Given the description of an element on the screen output the (x, y) to click on. 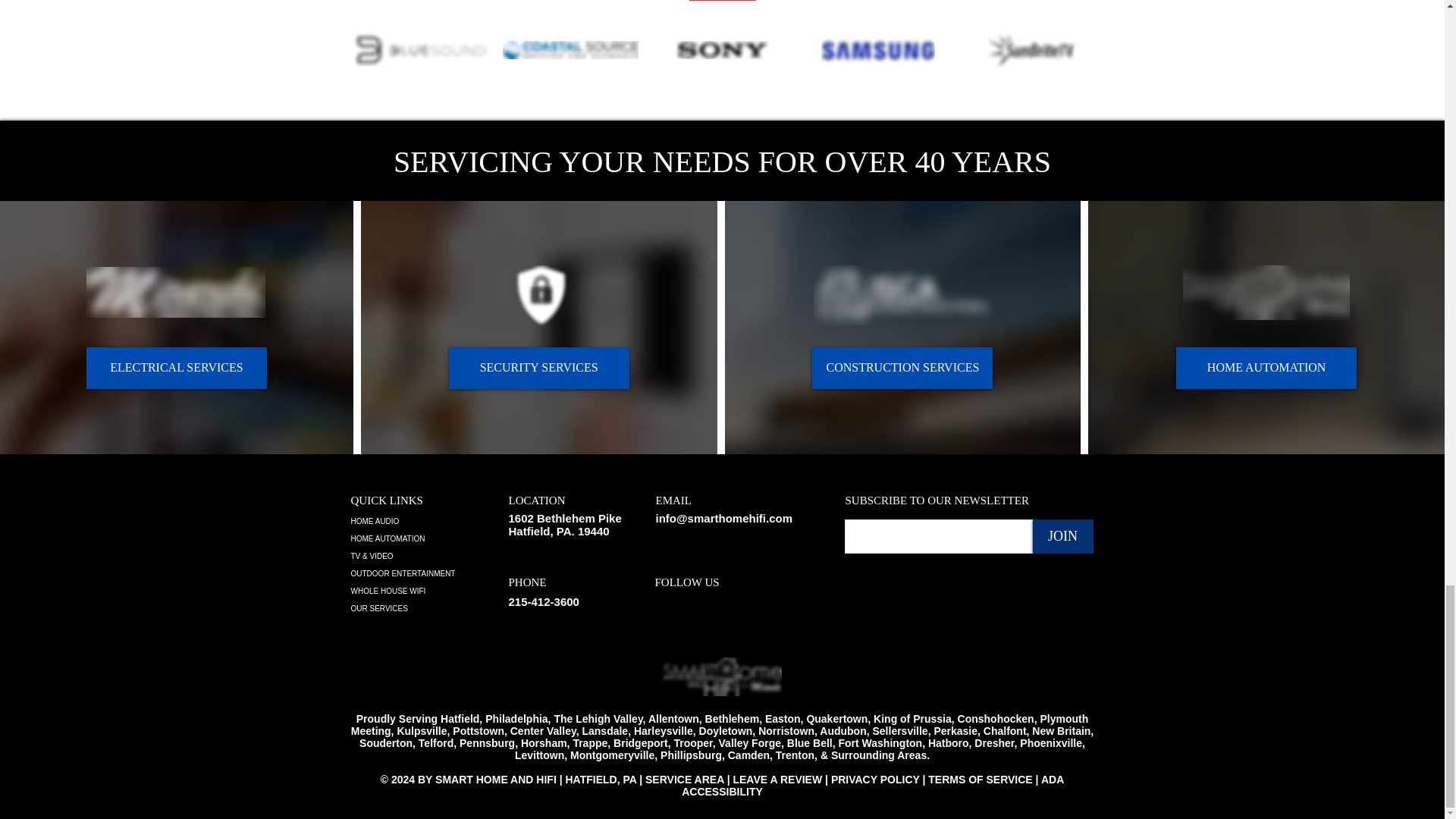
SECURITY SERVICES (538, 368)
ELECTRICAL SERVICES (175, 368)
CONSTRUCTION SERVICES (902, 368)
